Given the description of an element on the screen output the (x, y) to click on. 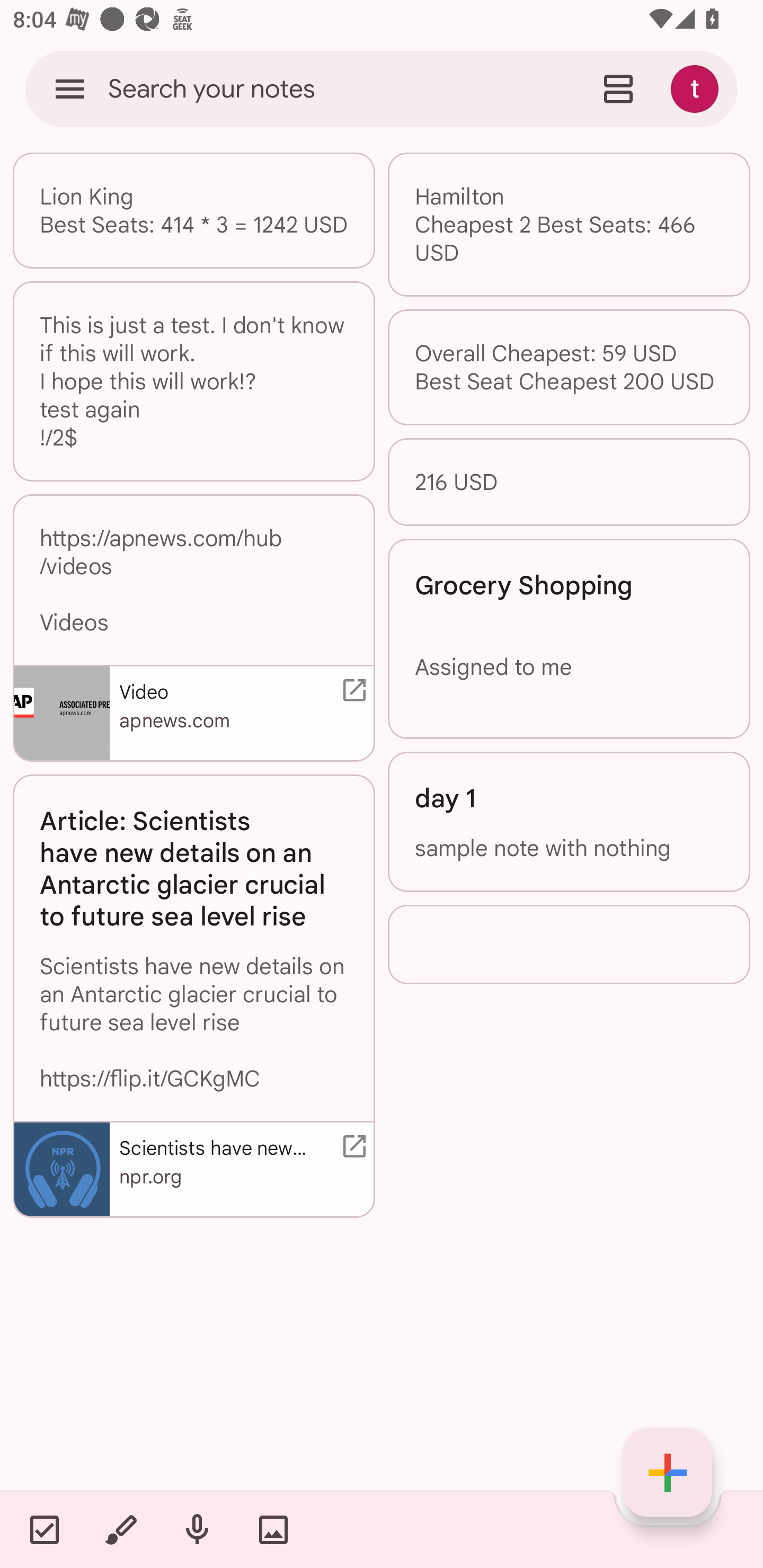
Open navigation drawer (70, 88)
Single-column view (617, 88)
Account and settings. (696, 88)
216 USD.  216 USD (568, 481)
Link preview popout (350, 689)
.  (568, 944)
Link preview popout (350, 1146)
New text note (667, 1472)
New list (44, 1529)
New drawing note (120, 1529)
New audio note (196, 1529)
New photo note (273, 1529)
